Given the description of an element on the screen output the (x, y) to click on. 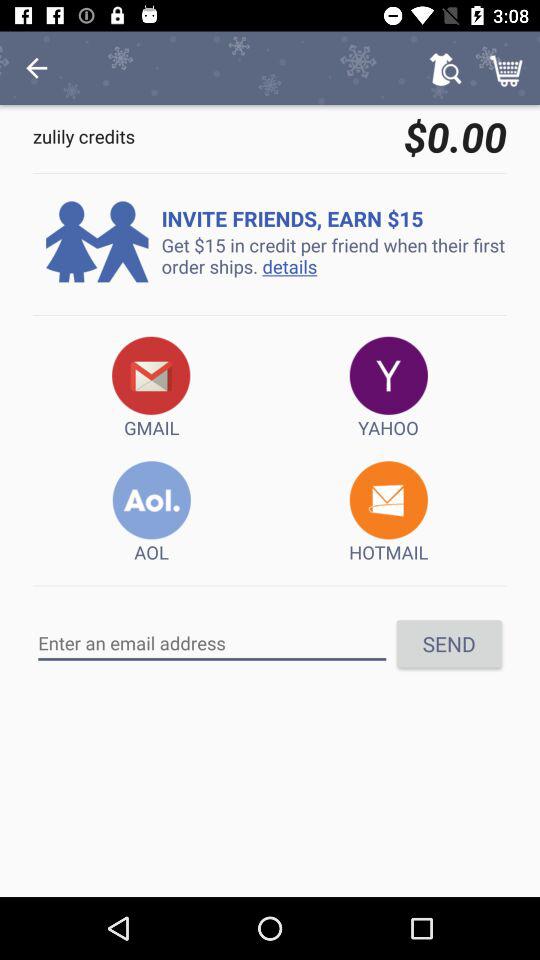
press icon above the zulily credits icon (36, 68)
